Given the description of an element on the screen output the (x, y) to click on. 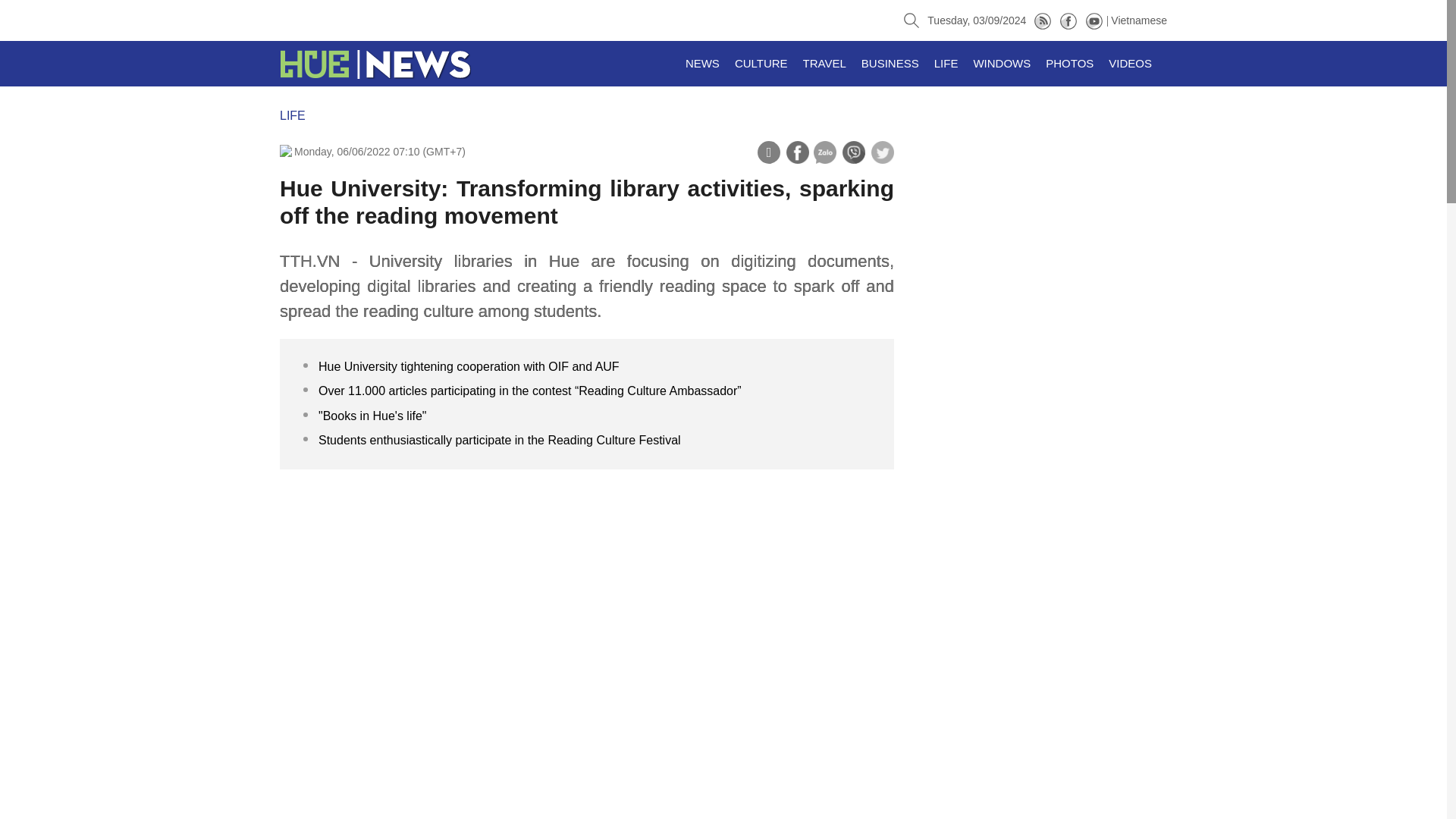
TRAVEL (824, 63)
WINDOWS (1001, 63)
PHOTOS (1069, 63)
LIFE (292, 115)
BUSINESS (889, 63)
Facebook (1068, 19)
Vietnamese (1138, 19)
Sitemap (1042, 19)
VIDEOS (1129, 63)
CULTURE (761, 63)
